Given the description of an element on the screen output the (x, y) to click on. 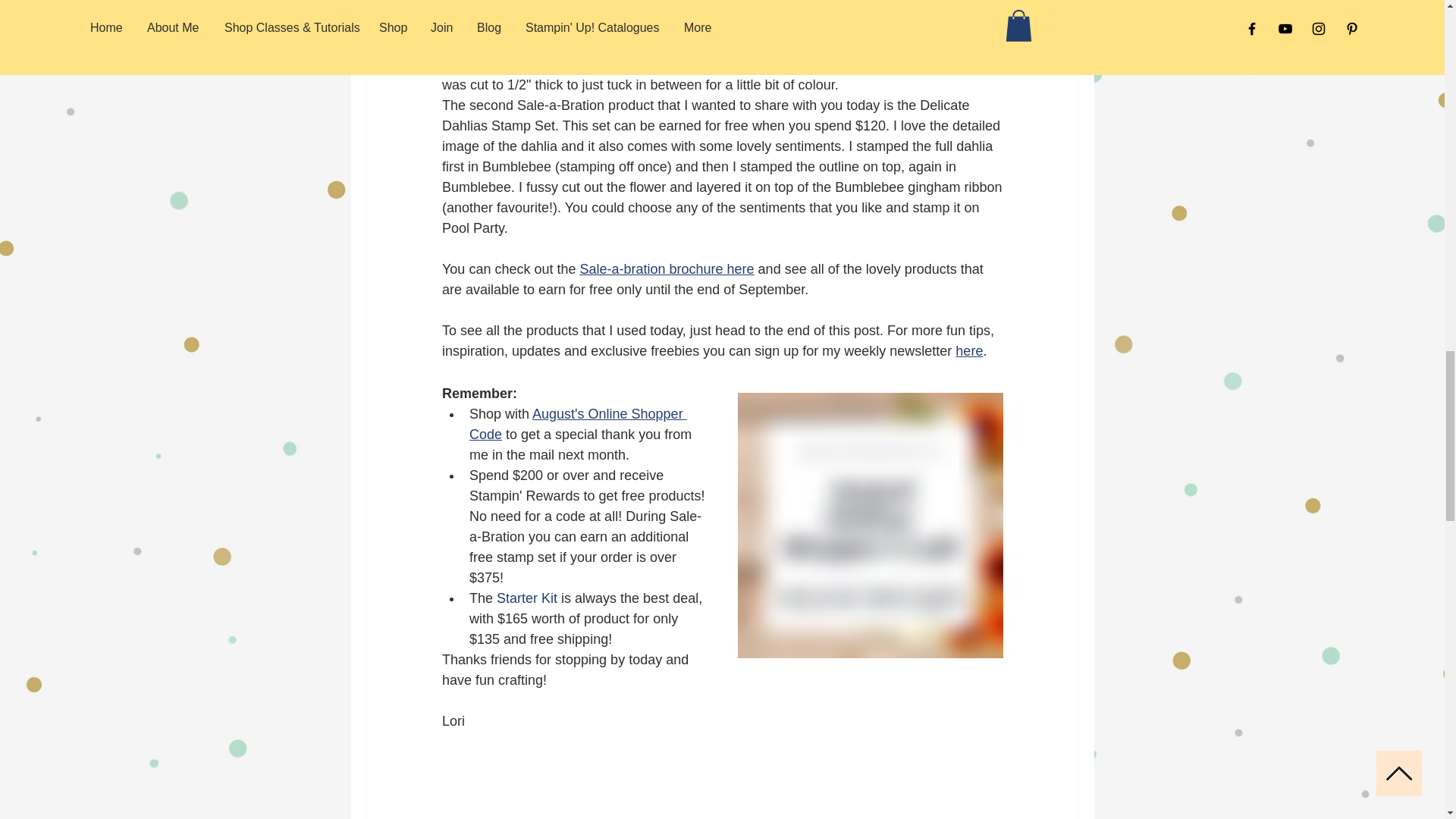
Sale-a-bration brochure here (666, 268)
August's Online Shopper Code (576, 424)
Starter Kit (526, 598)
here (968, 350)
